Given the description of an element on the screen output the (x, y) to click on. 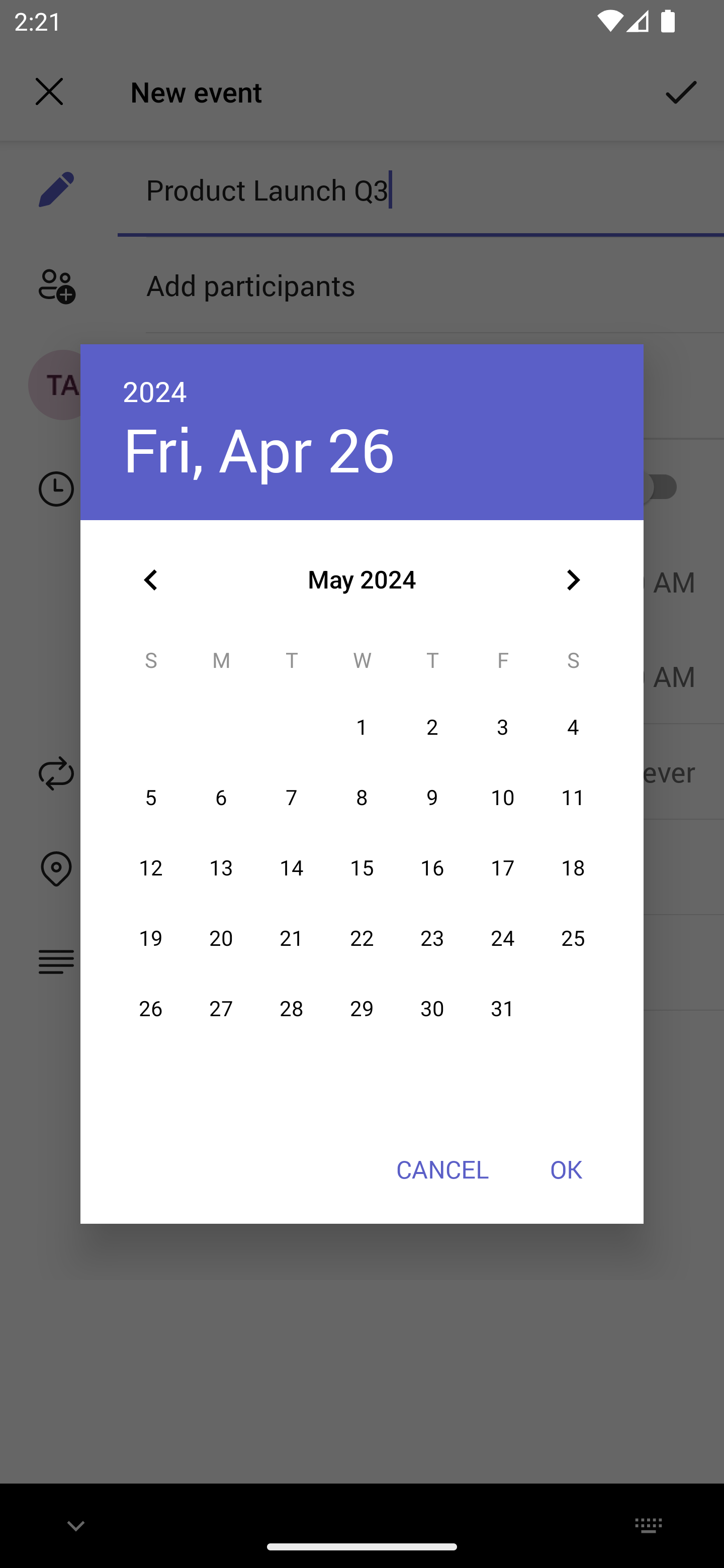
2024 (154, 391)
Fri, Apr 26 (258, 449)
Previous month (150, 579)
Next month (572, 579)
1 01 May 2024 (361, 728)
2 02 May 2024 (432, 728)
3 03 May 2024 (502, 728)
4 04 May 2024 (572, 728)
5 05 May 2024 (150, 797)
6 06 May 2024 (221, 797)
7 07 May 2024 (291, 797)
8 08 May 2024 (361, 797)
9 09 May 2024 (432, 797)
10 10 May 2024 (502, 797)
11 11 May 2024 (572, 797)
12 12 May 2024 (150, 867)
13 13 May 2024 (221, 867)
14 14 May 2024 (291, 867)
15 15 May 2024 (361, 867)
16 16 May 2024 (432, 867)
17 17 May 2024 (502, 867)
18 18 May 2024 (572, 867)
19 19 May 2024 (150, 938)
20 20 May 2024 (221, 938)
21 21 May 2024 (291, 938)
22 22 May 2024 (361, 938)
23 23 May 2024 (432, 938)
24 24 May 2024 (502, 938)
25 25 May 2024 (572, 938)
26 26 May 2024 (150, 1008)
27 27 May 2024 (221, 1008)
28 28 May 2024 (291, 1008)
29 29 May 2024 (361, 1008)
30 30 May 2024 (432, 1008)
31 31 May 2024 (502, 1008)
CANCEL (442, 1168)
OK (565, 1168)
